Given the description of an element on the screen output the (x, y) to click on. 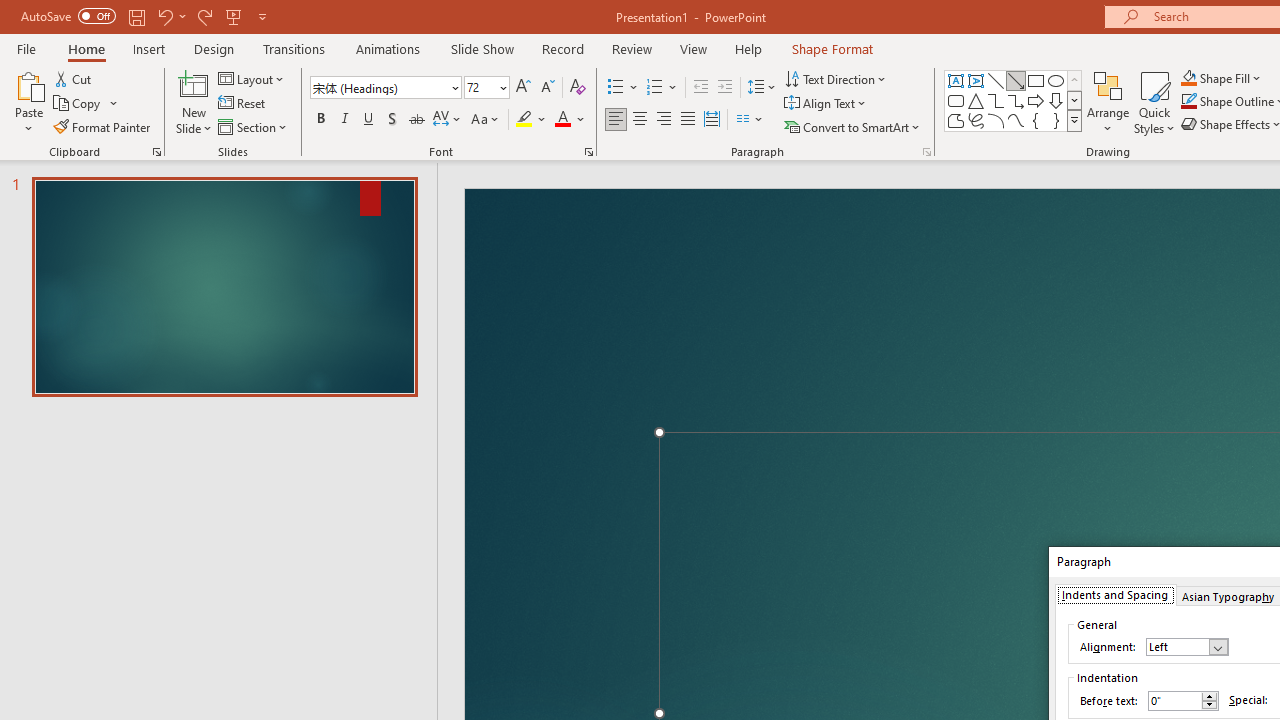
Before text (1183, 701)
